Given the description of an element on the screen output the (x, y) to click on. 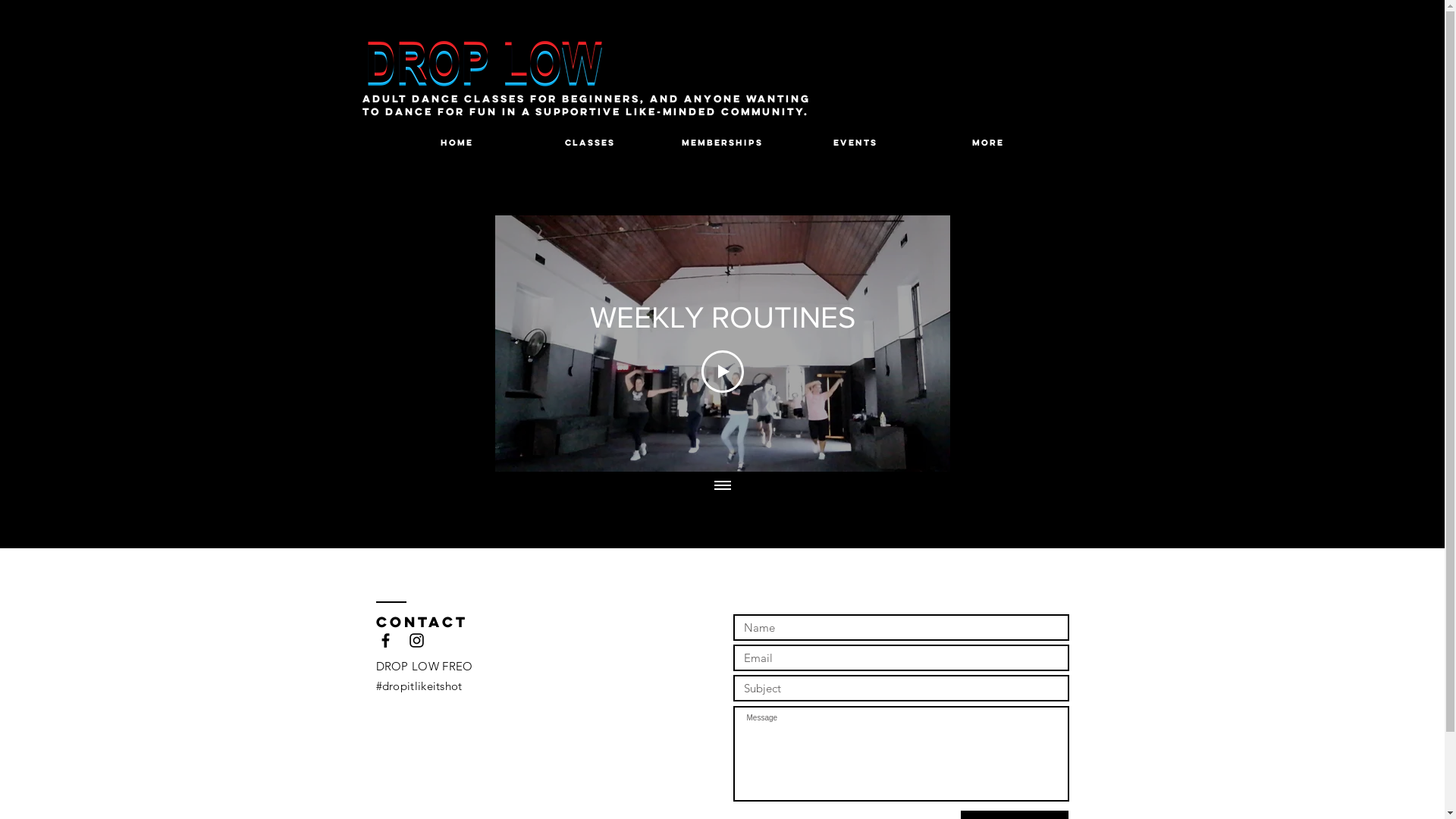
Home Element type: text (456, 142)
Memberships Element type: text (721, 142)
Classes Element type: text (589, 142)
Events Element type: text (854, 142)
